Given the description of an element on the screen output the (x, y) to click on. 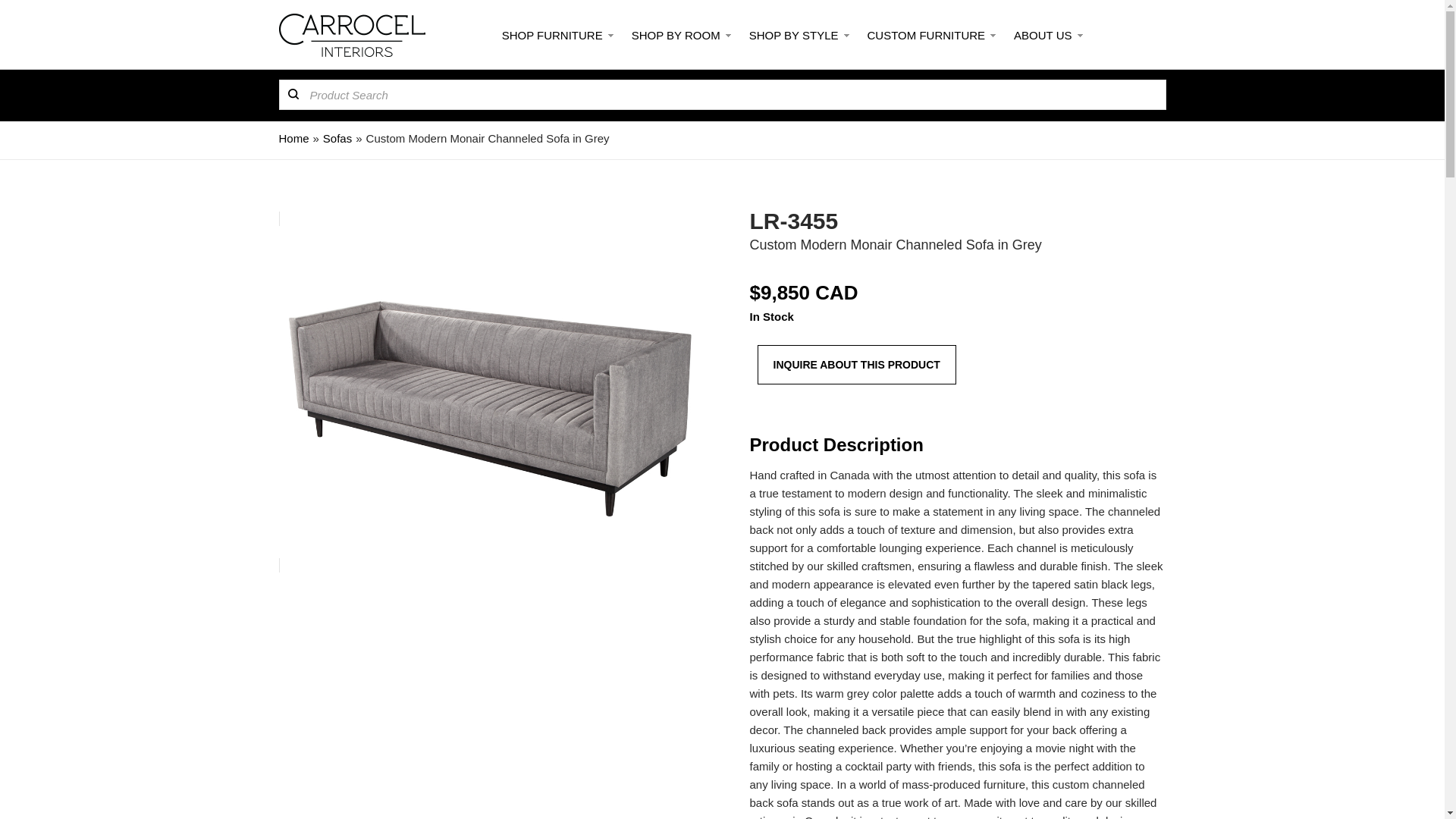
Location (1154, 33)
SHOP BY STYLE (796, 35)
Call Us (1119, 33)
SHOP BY ROOM (679, 35)
SHOP FURNITURE (555, 35)
